Given the description of an element on the screen output the (x, y) to click on. 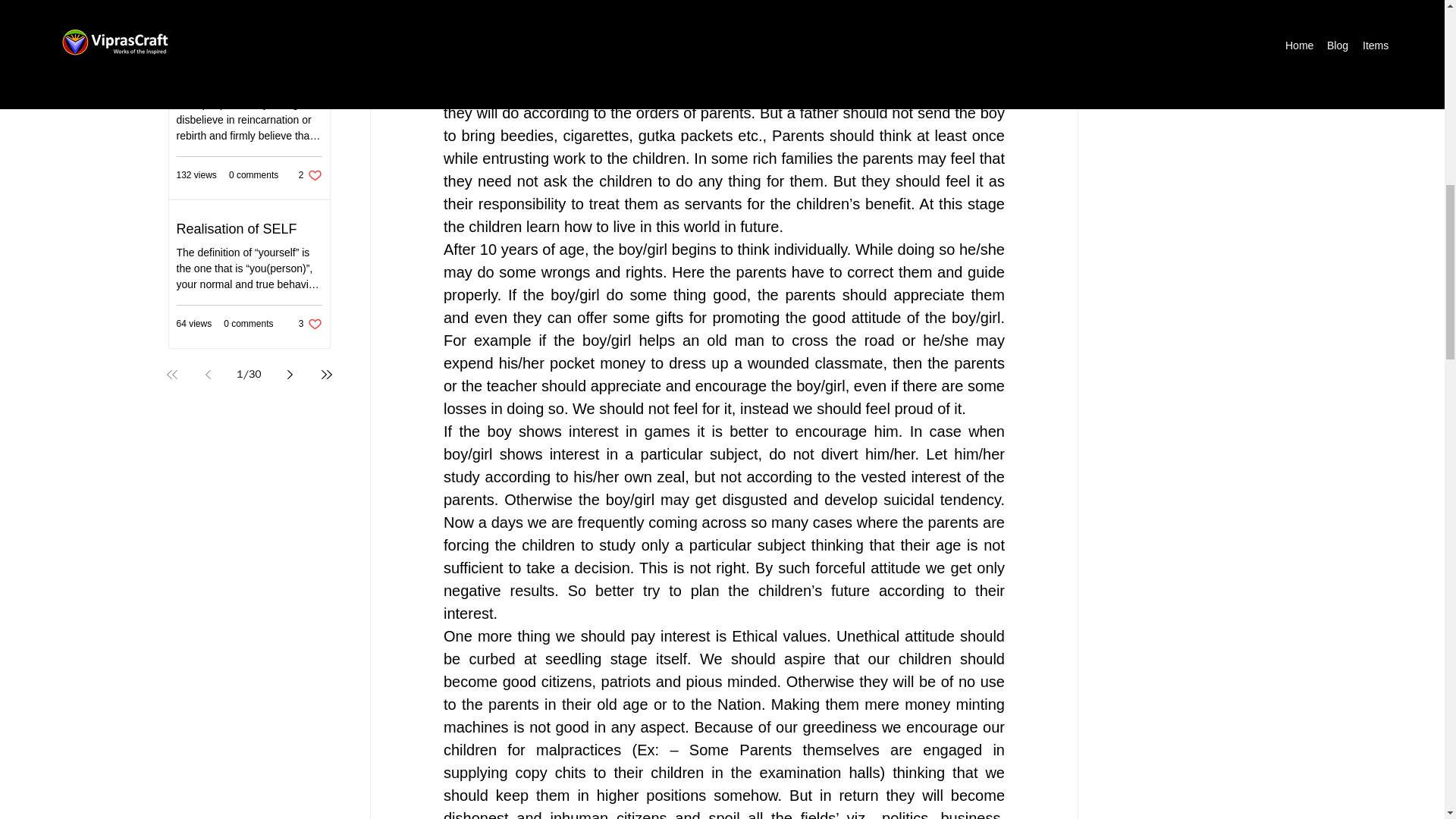
Birth, Death and Rebirth (248, 80)
0 comments (309, 26)
0 comments (309, 323)
0 comments (253, 174)
Realisation of SELF (248, 323)
